Given the description of an element on the screen output the (x, y) to click on. 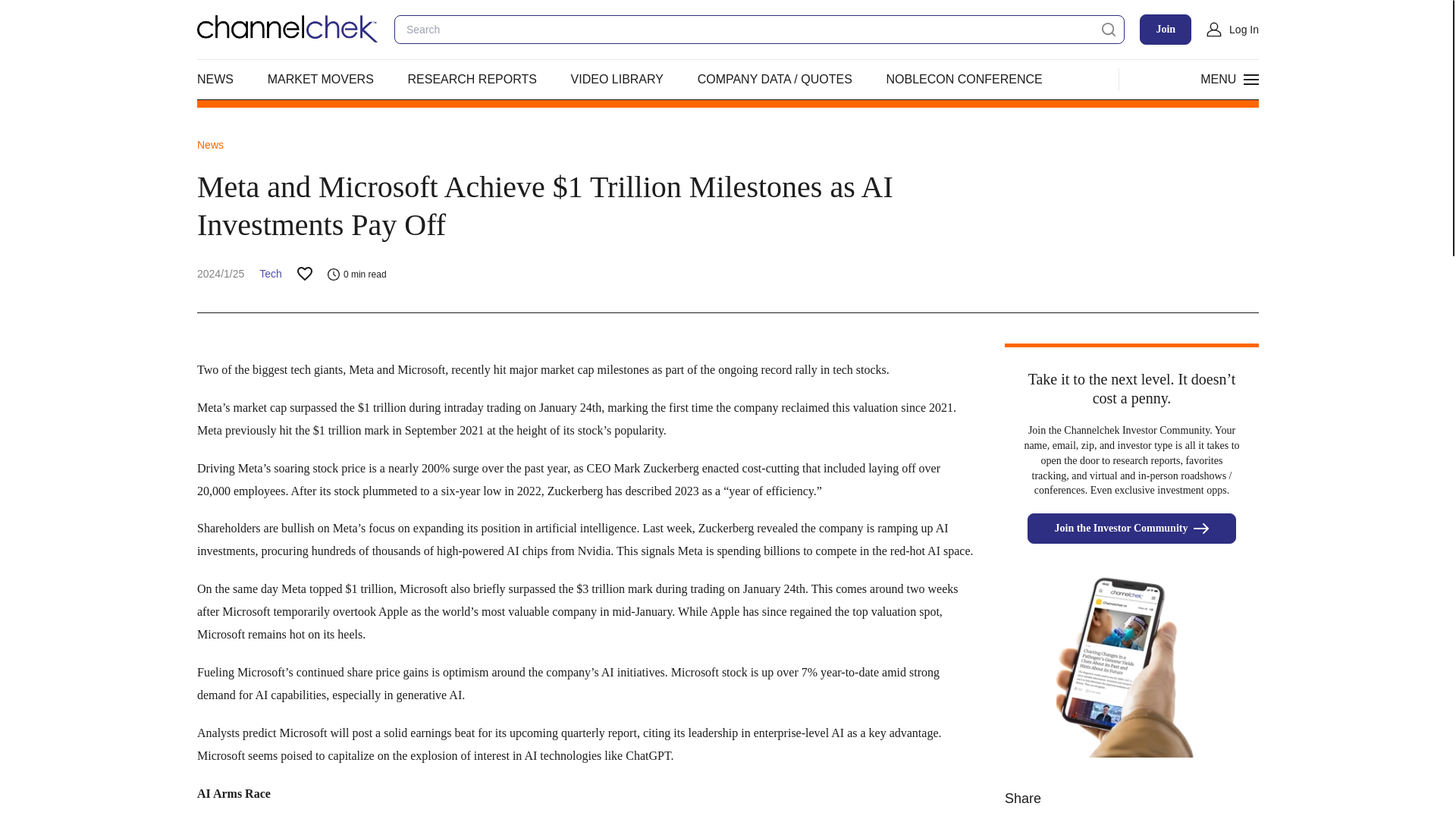
Join (1165, 29)
MARKET MOVERS (320, 78)
NOBLECON CONFERENCE (963, 78)
RESEARCH REPORTS (471, 78)
Join the Investor Community (1131, 528)
News (210, 144)
NEWS (214, 78)
channnelchek (287, 29)
Log In (1233, 29)
VIDEO LIBRARY (616, 78)
MENU (1227, 79)
